Given the description of an element on the screen output the (x, y) to click on. 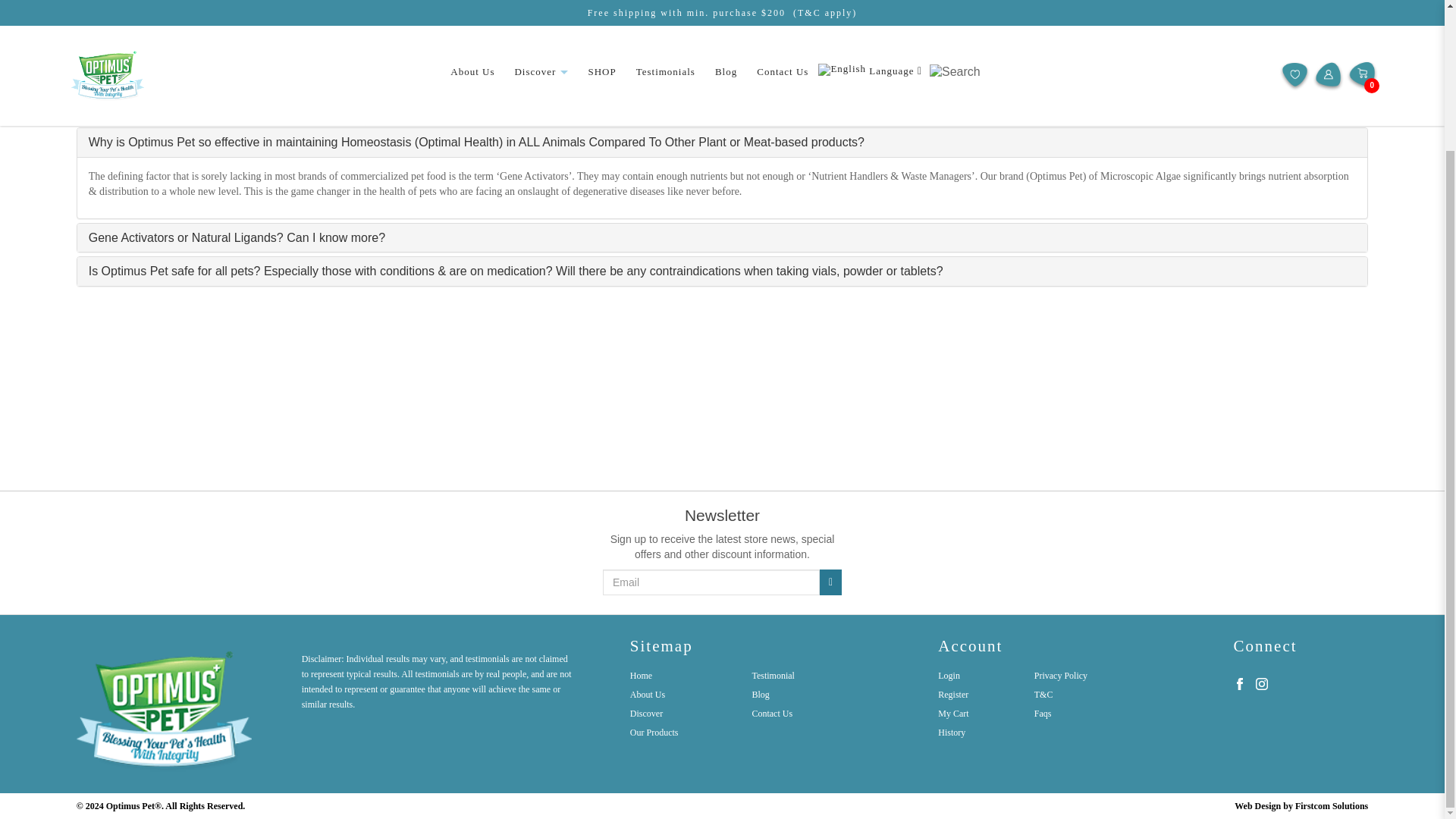
Facebook (1239, 684)
Instagram (1261, 684)
Instagram (1261, 682)
Facebook (1239, 682)
